Given the description of an element on the screen output the (x, y) to click on. 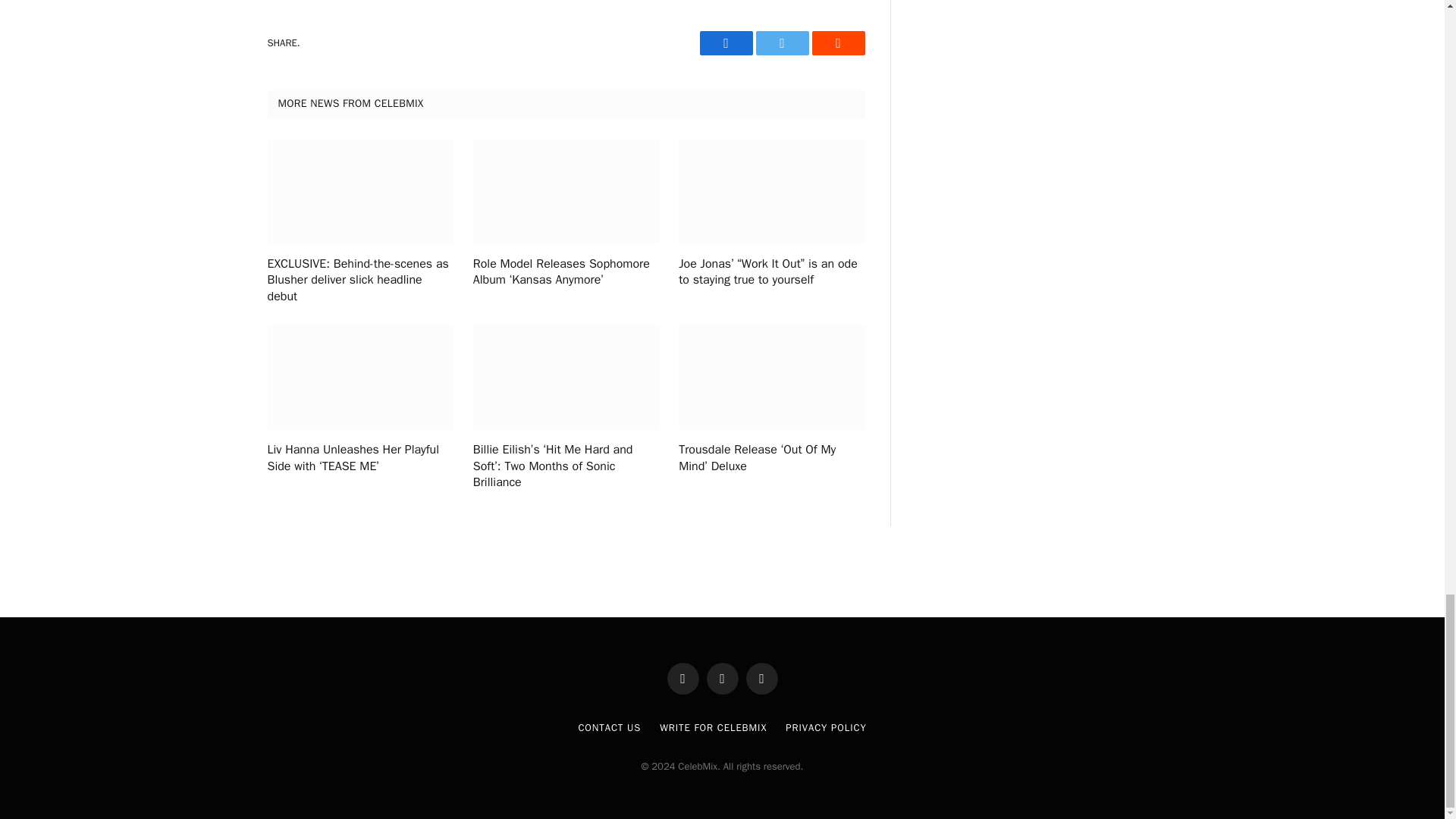
Facebook (725, 43)
Twitter (781, 43)
Reddit (837, 43)
